Given the description of an element on the screen output the (x, y) to click on. 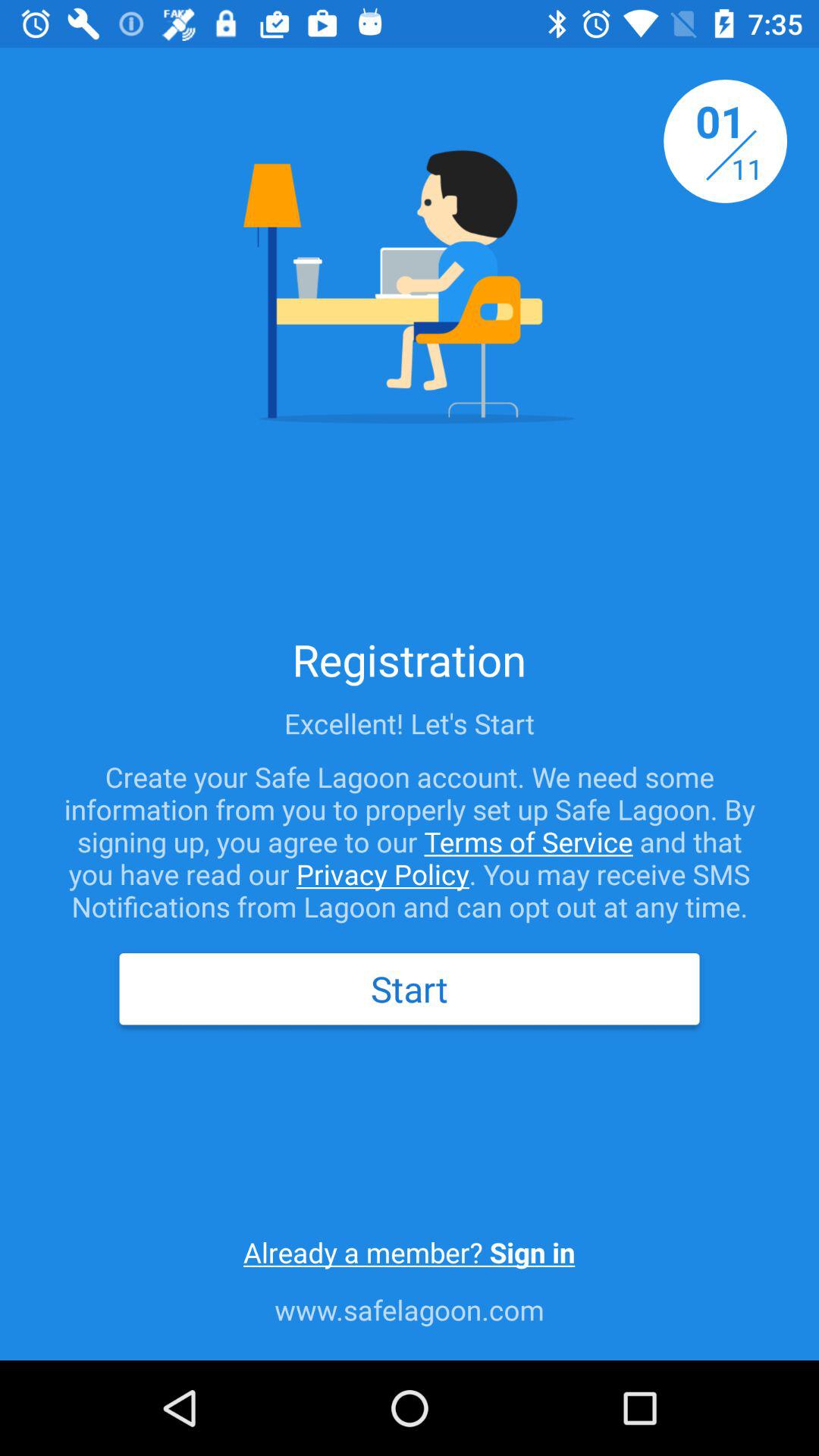
swipe to already a member icon (408, 1252)
